Given the description of an element on the screen output the (x, y) to click on. 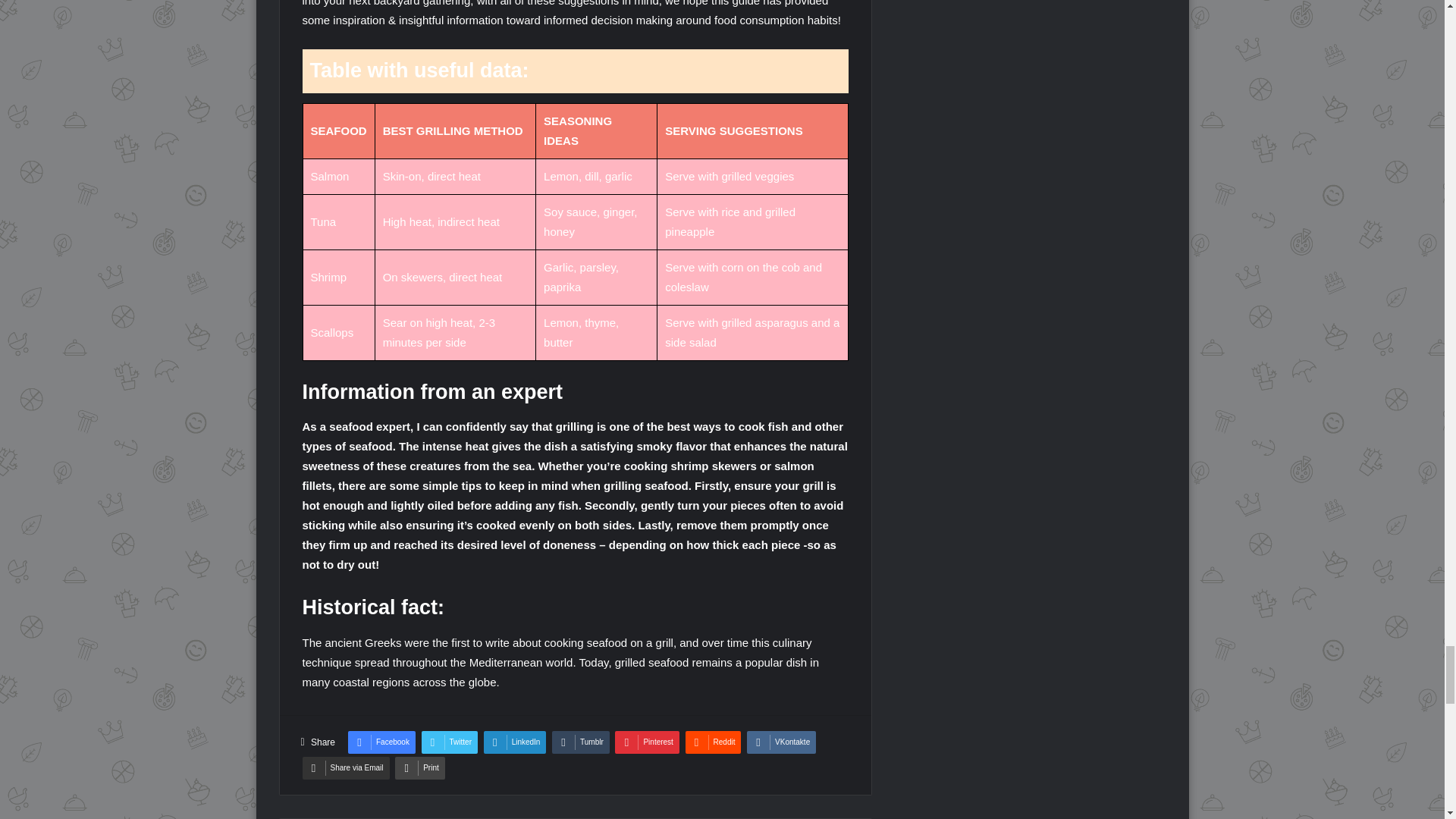
LinkedIn (515, 742)
Pinterest (646, 742)
Reddit (713, 742)
VKontakte (780, 742)
Twitter (449, 742)
Facebook (380, 742)
Tumblr (580, 742)
